Given the description of an element on the screen output the (x, y) to click on. 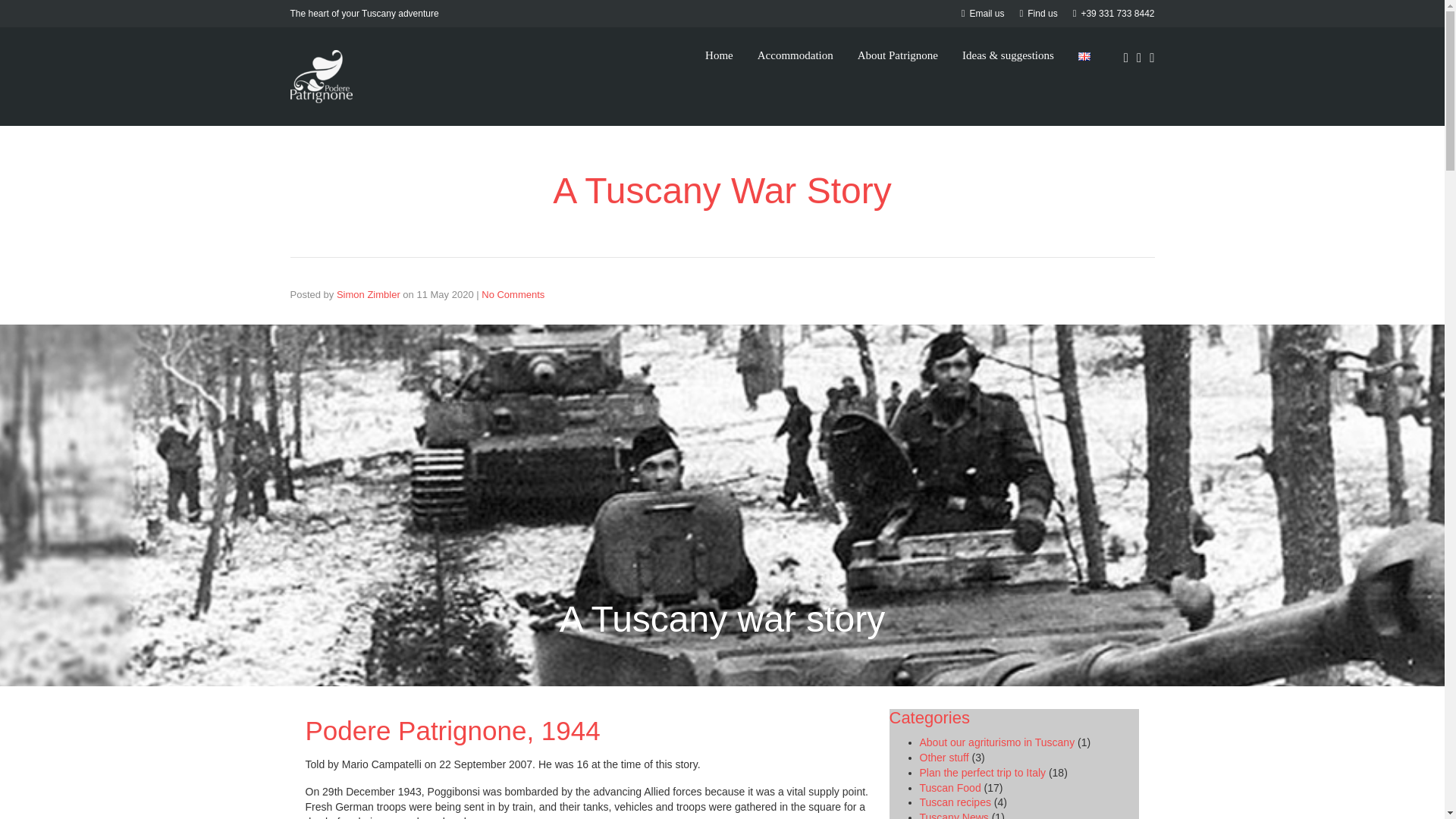
Posts by Simon Zimbler (368, 294)
Email us (982, 13)
Find us (1039, 13)
